Given the description of an element on the screen output the (x, y) to click on. 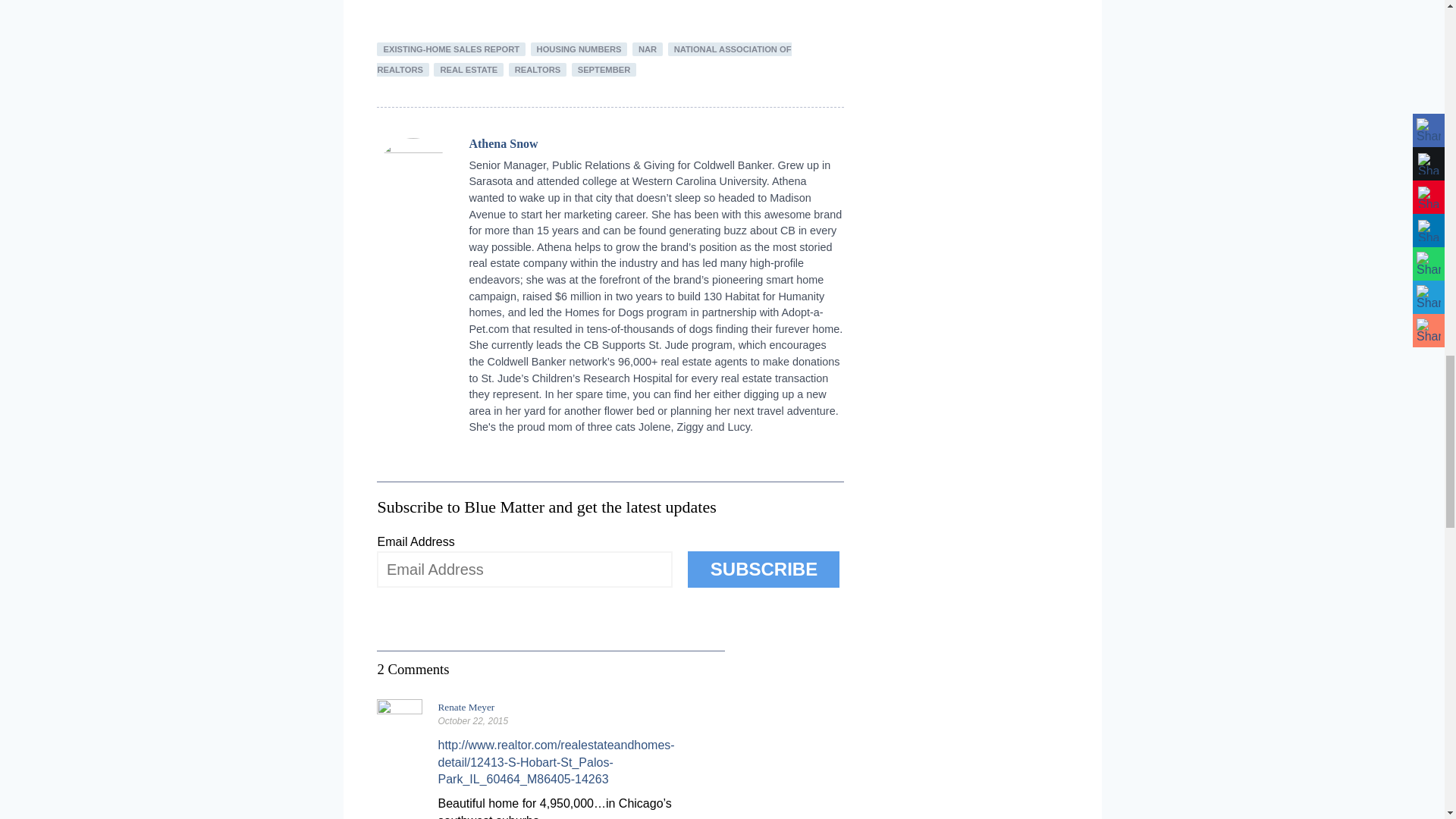
HOUSING NUMBERS (579, 49)
Athena Snow (502, 143)
SEPTEMBER (604, 69)
REALTORS (537, 69)
SUBSCRIBE (763, 569)
NATIONAL ASSOCIATION OF REALTORS (583, 59)
EXISTING-HOME SALES REPORT (451, 49)
Posts by Athena Snow (502, 143)
REAL ESTATE (468, 69)
NAR (646, 49)
Renate Meyer (466, 706)
